Given the description of an element on the screen output the (x, y) to click on. 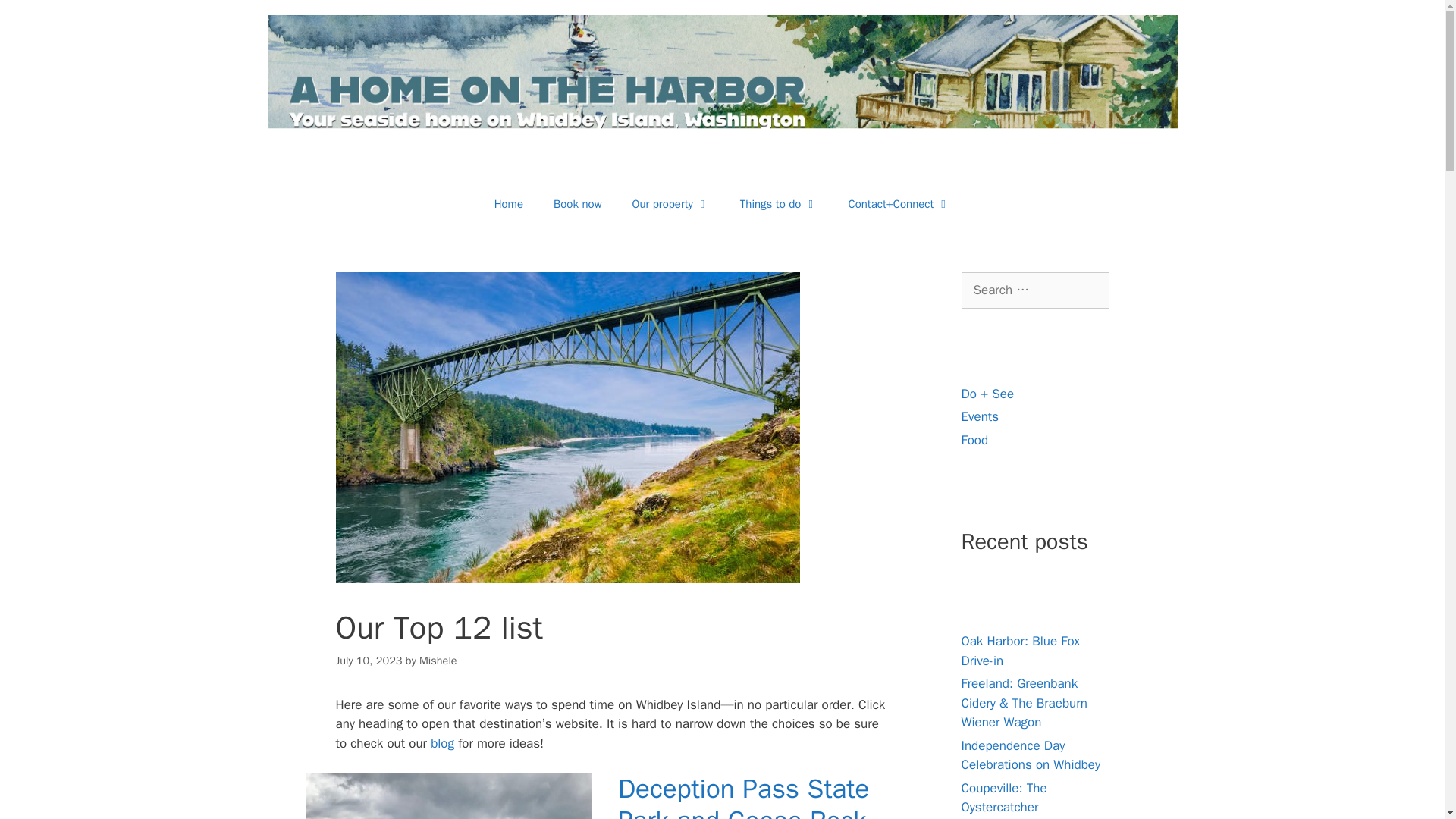
Things to do (778, 203)
blog (442, 743)
Mishele (438, 660)
Search (35, 18)
Home (508, 203)
View all posts by Mishele (438, 660)
Book now (577, 203)
Our property (671, 203)
Deception Pass State Park and Goose Rock Trail (743, 795)
Search for: (1034, 289)
